Given the description of an element on the screen output the (x, y) to click on. 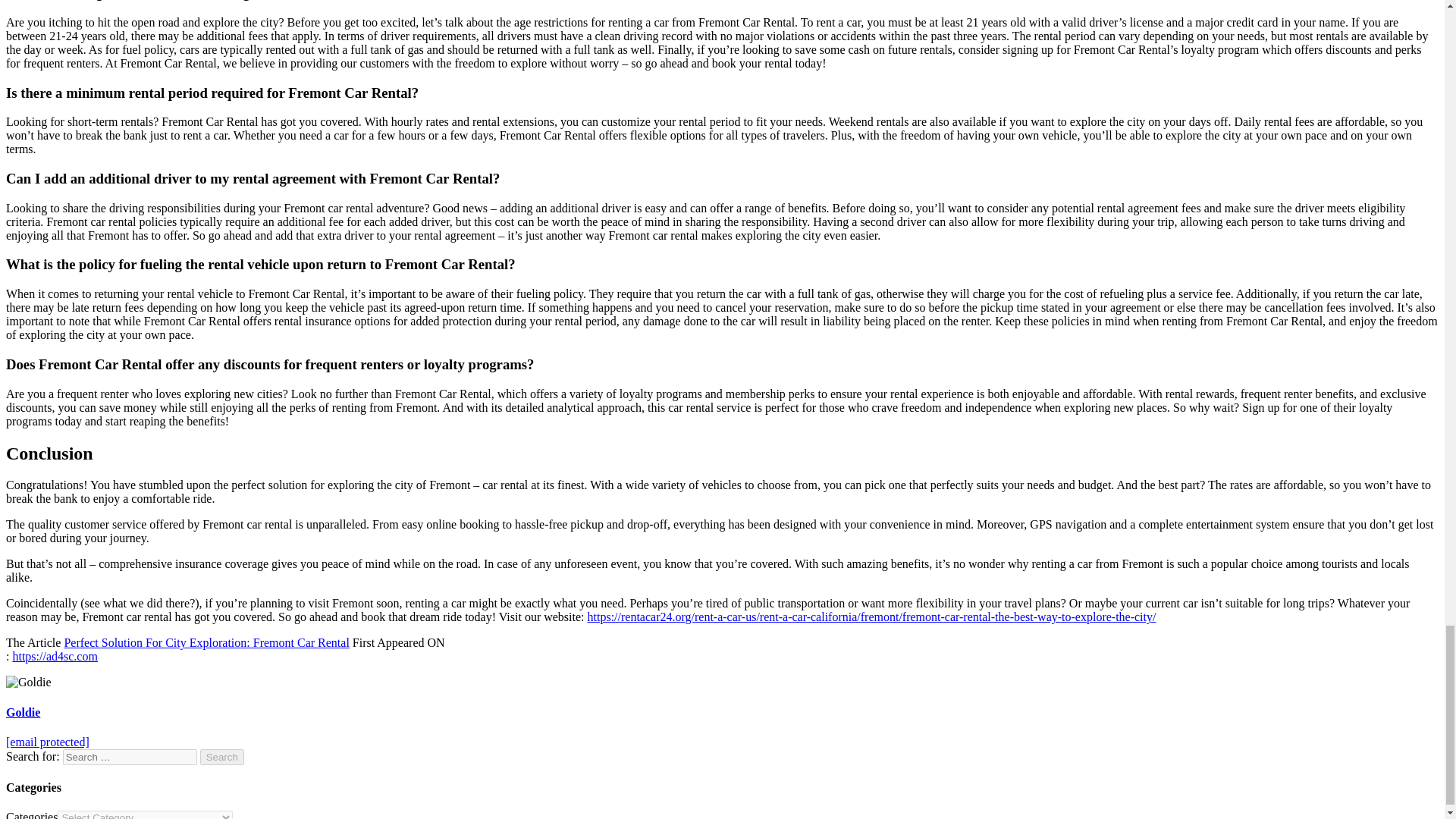
Goldie (22, 712)
Search (222, 756)
Perfect Solution For City Exploration: Fremont Car Rental (206, 642)
Search (222, 756)
Search (222, 756)
